Given the description of an element on the screen output the (x, y) to click on. 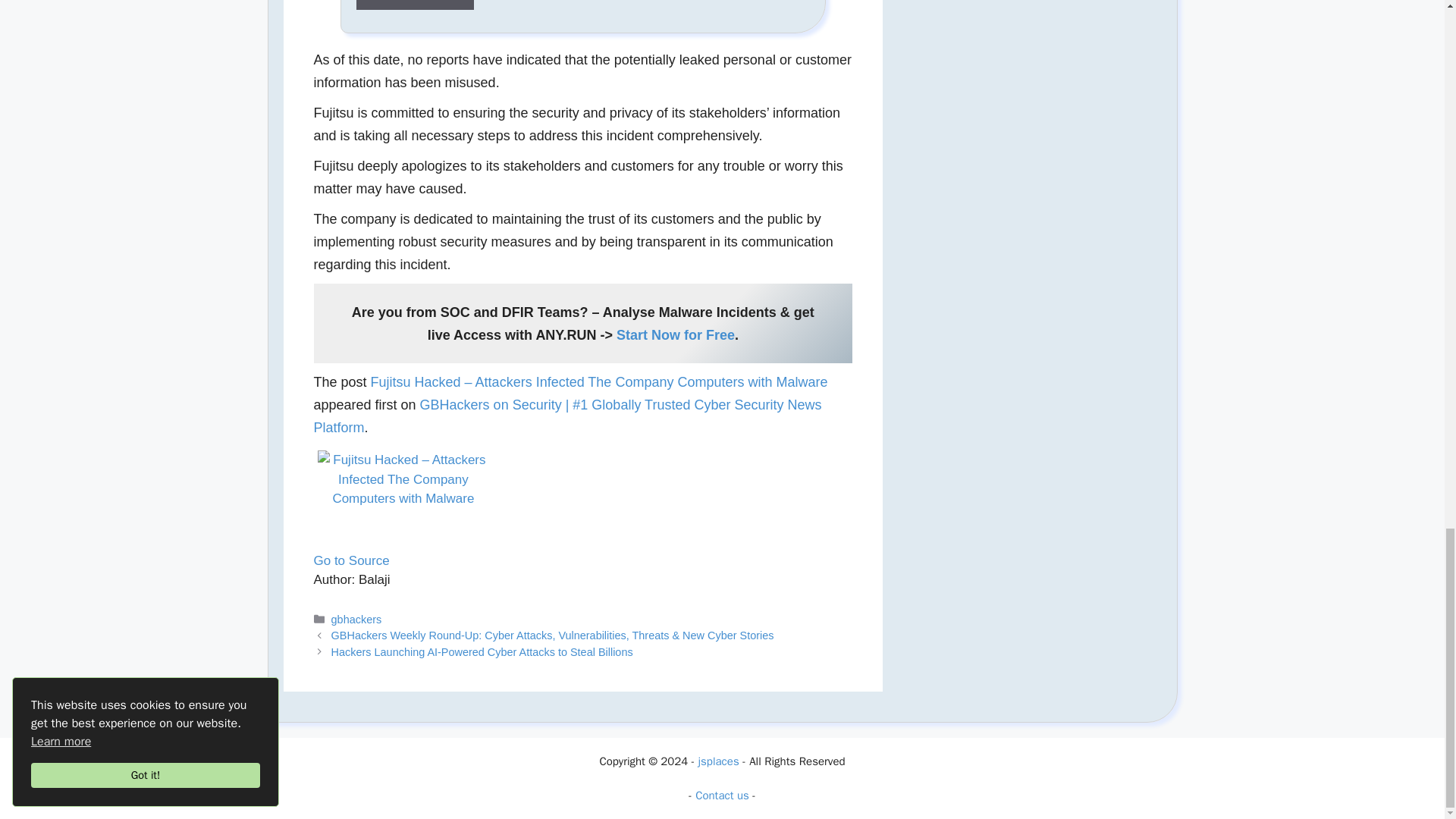
Go to Source (352, 560)
Book Your spot (415, 4)
gbhackers (356, 619)
Hackers Launching AI-Powered Cyber Attacks to Steal Billions (482, 652)
Scroll back to top (1406, 24)
Book Your spot (415, 9)
Start Now for Free (675, 335)
